Given the description of an element on the screen output the (x, y) to click on. 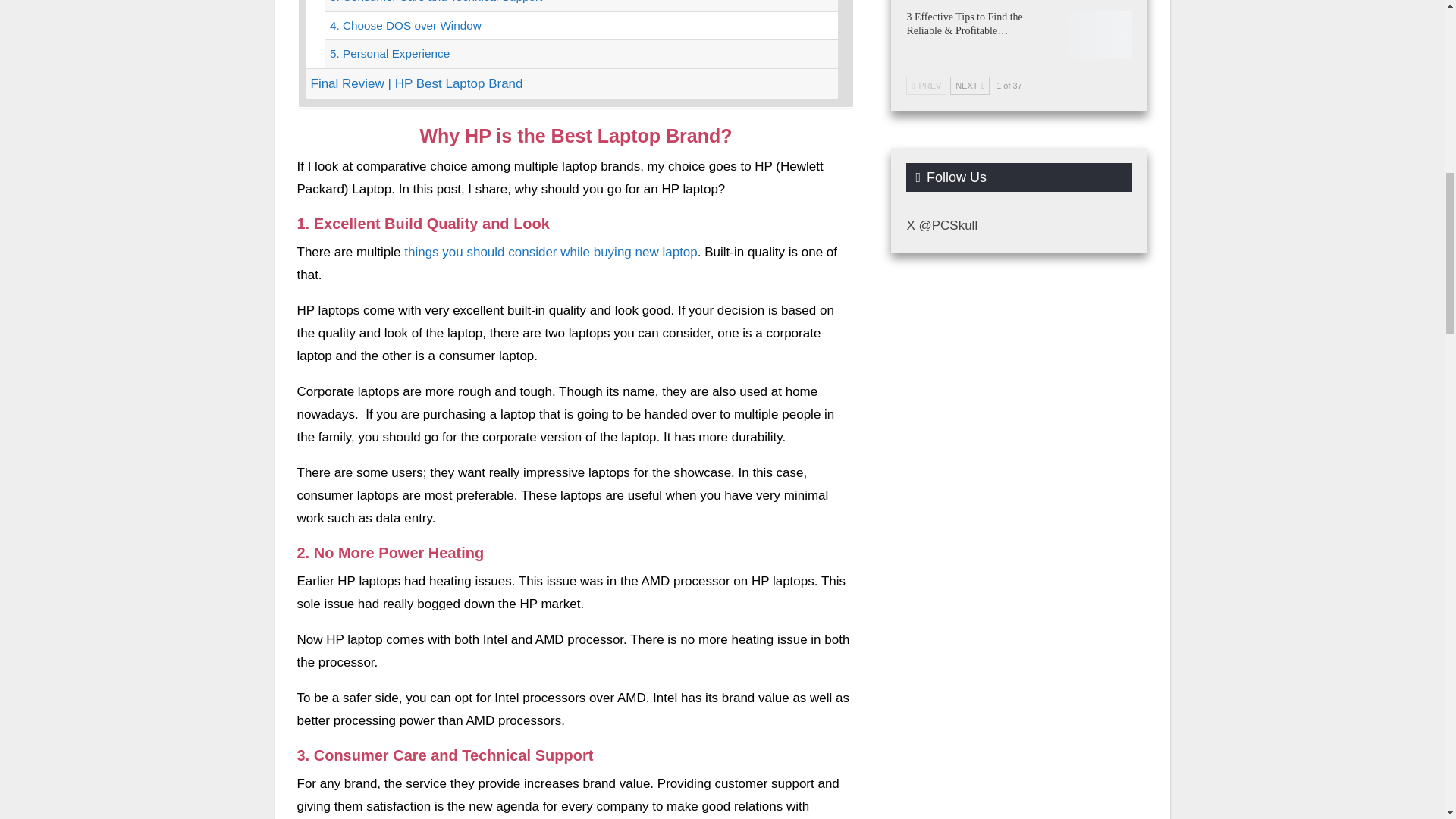
4. Choose DOS over Window (581, 25)
5. Personal Experience (581, 53)
3. Consumer Care and Technical Support (581, 5)
5. Personal Experience (581, 53)
things you should consider while buying new laptop (550, 251)
3. Consumer Care and Technical Support (581, 5)
4. Choose DOS over Window (581, 25)
